Given the description of an element on the screen output the (x, y) to click on. 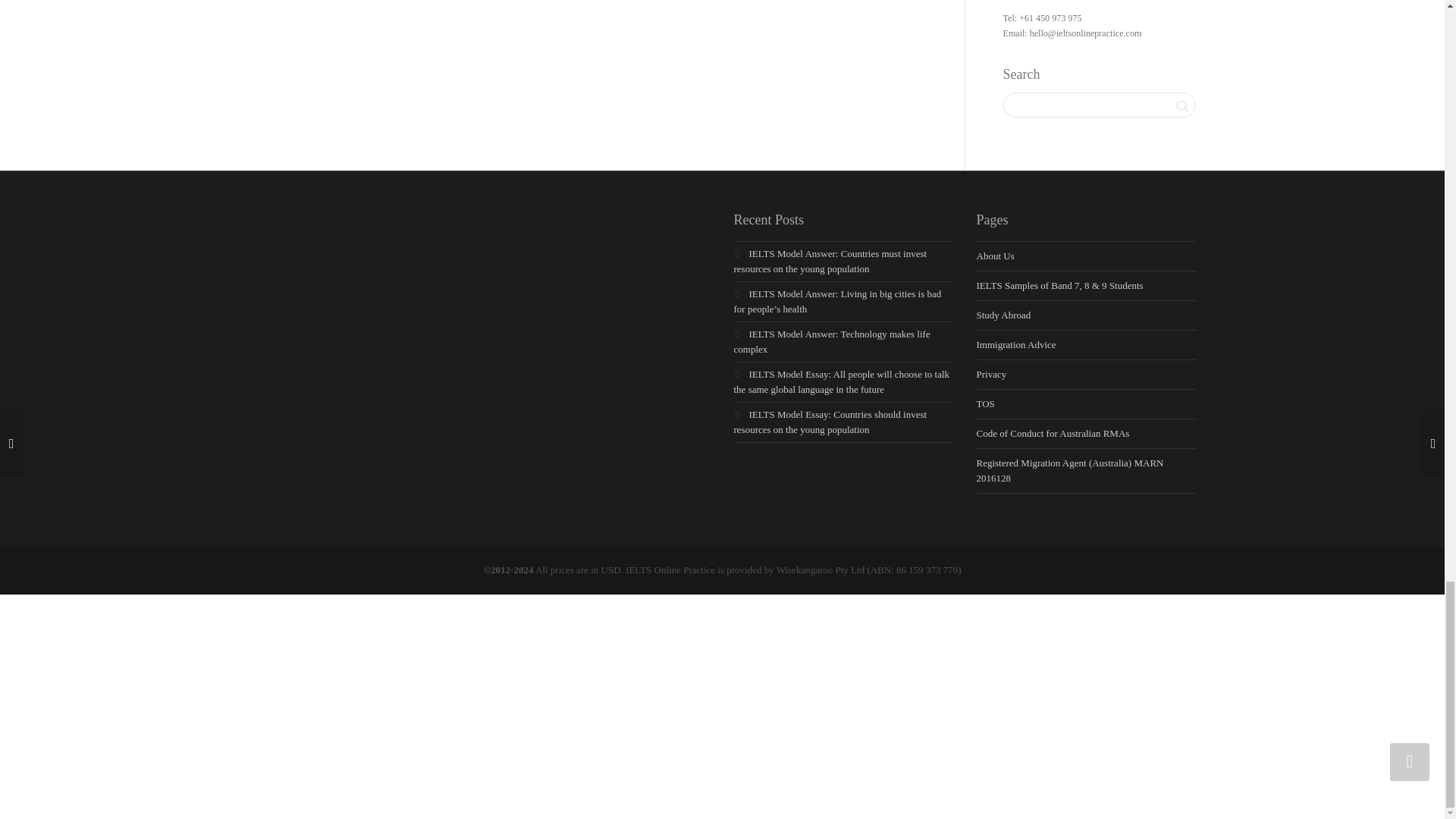
Search (1181, 106)
Search (1181, 106)
